Given the description of an element on the screen output the (x, y) to click on. 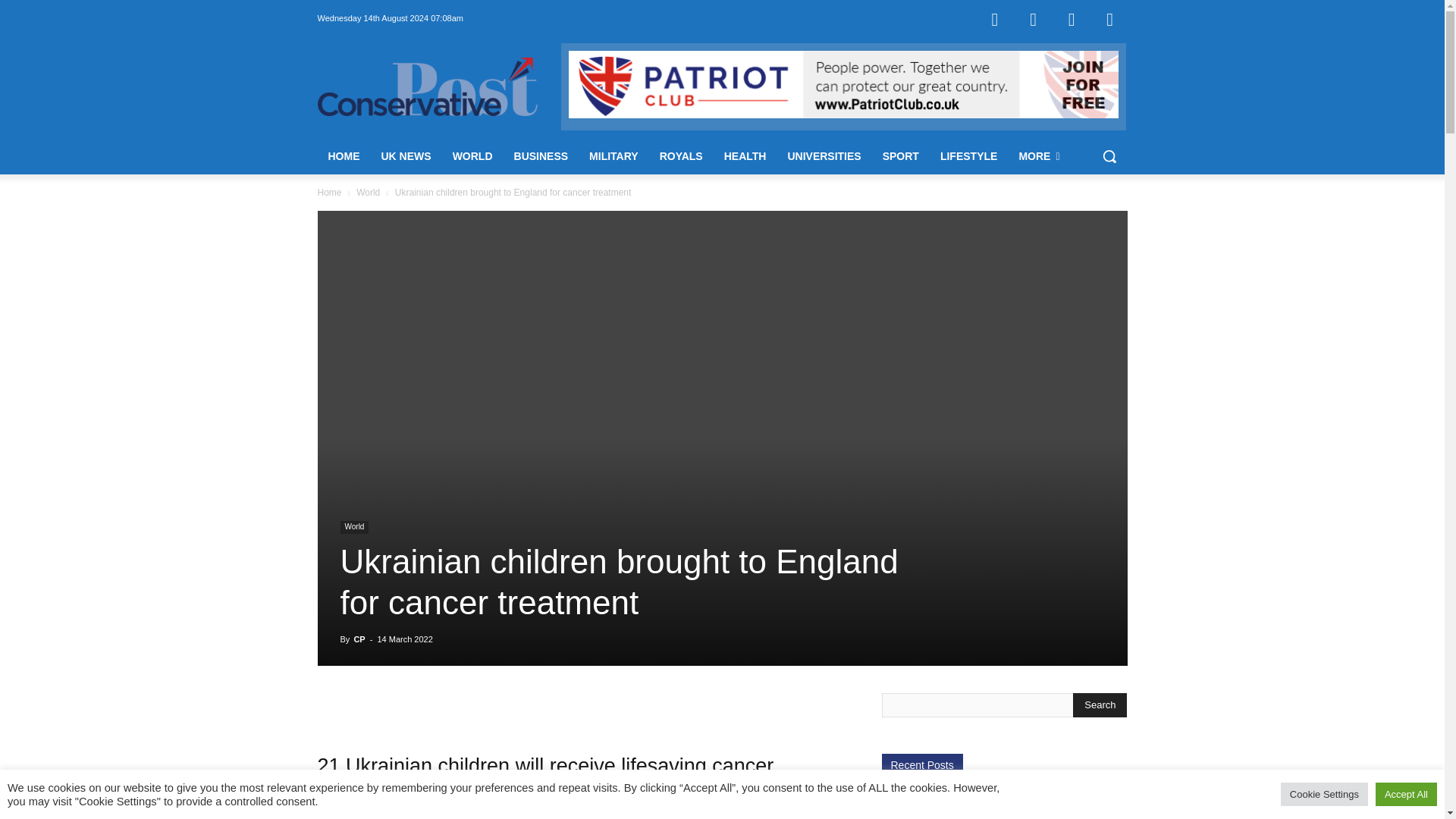
CP (359, 638)
UNIVERSITIES (823, 156)
HOME (343, 156)
Instagram (1033, 18)
Twitter (1071, 18)
Search (1099, 704)
Home (328, 192)
UK NEWS (405, 156)
World (353, 526)
Conservative Post (427, 86)
